Given the description of an element on the screen output the (x, y) to click on. 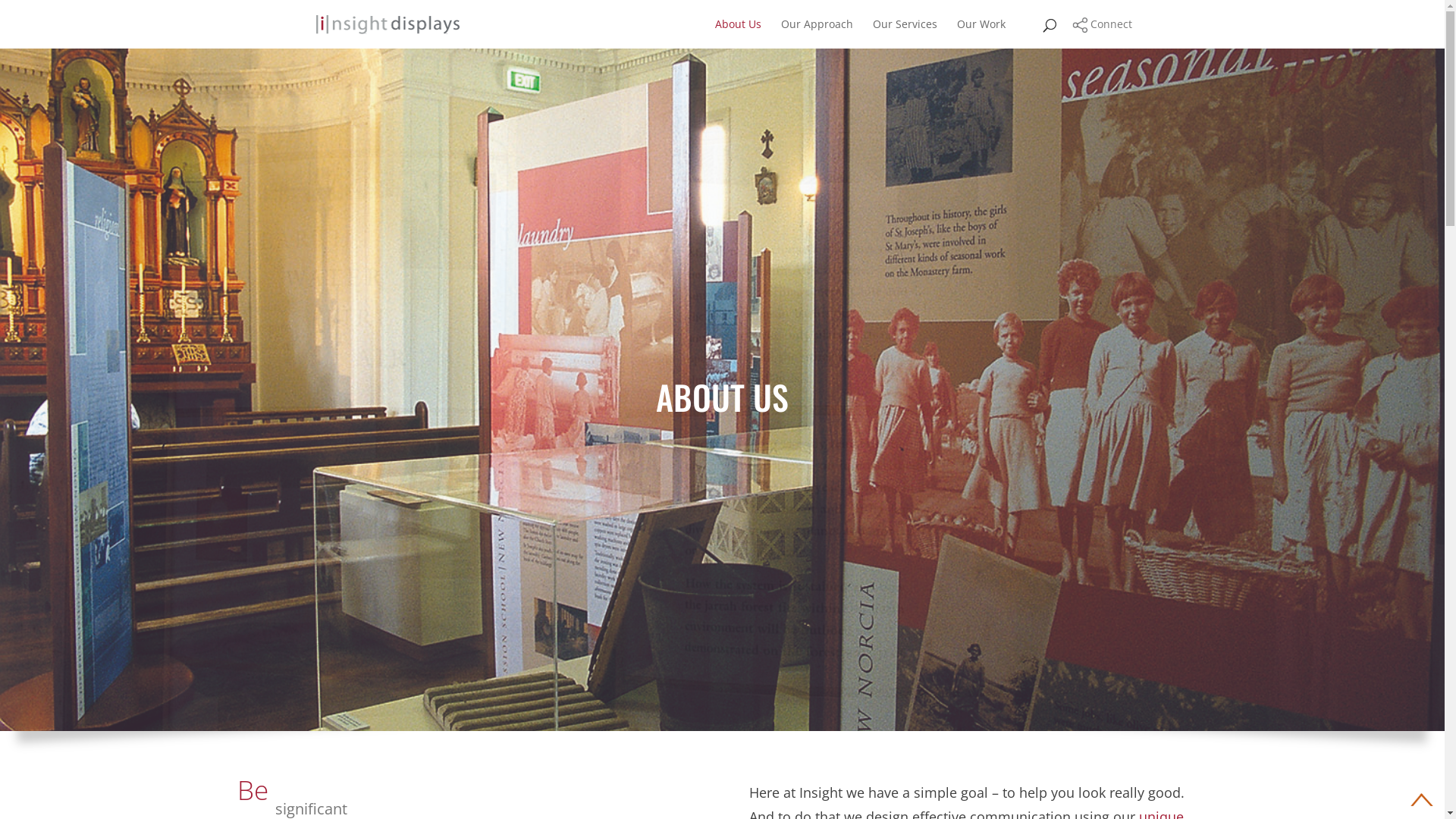
Our Approach Element type: text (817, 33)
Our Services Element type: text (904, 33)
Our Work Element type: text (981, 33)
Go to top of page Element type: hover (1421, 799)
Connect Element type: text (1102, 23)
About Us Element type: text (737, 33)
